Given the description of an element on the screen output the (x, y) to click on. 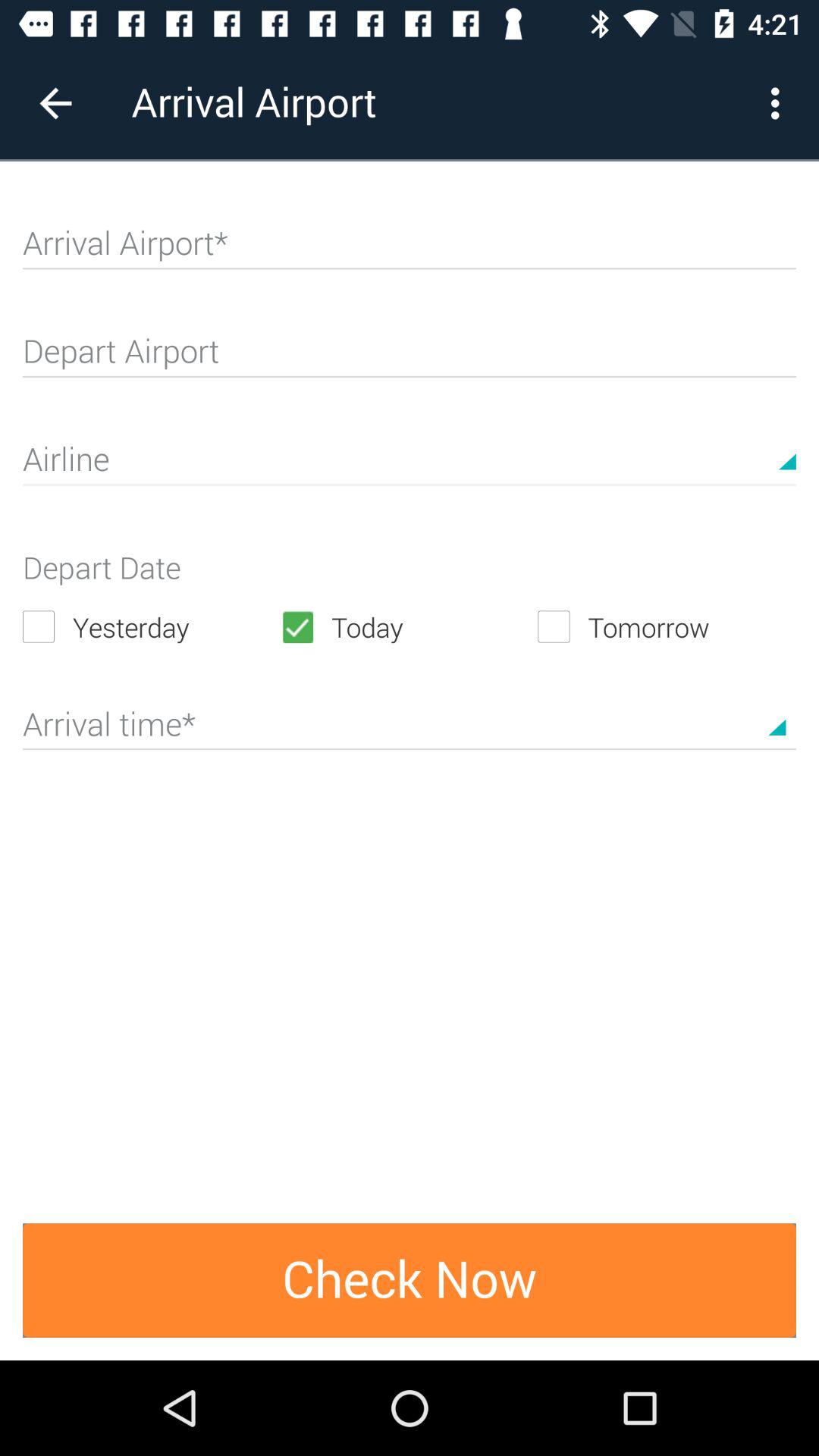
select the icon to the left of arrival airport item (55, 103)
